Given the description of an element on the screen output the (x, y) to click on. 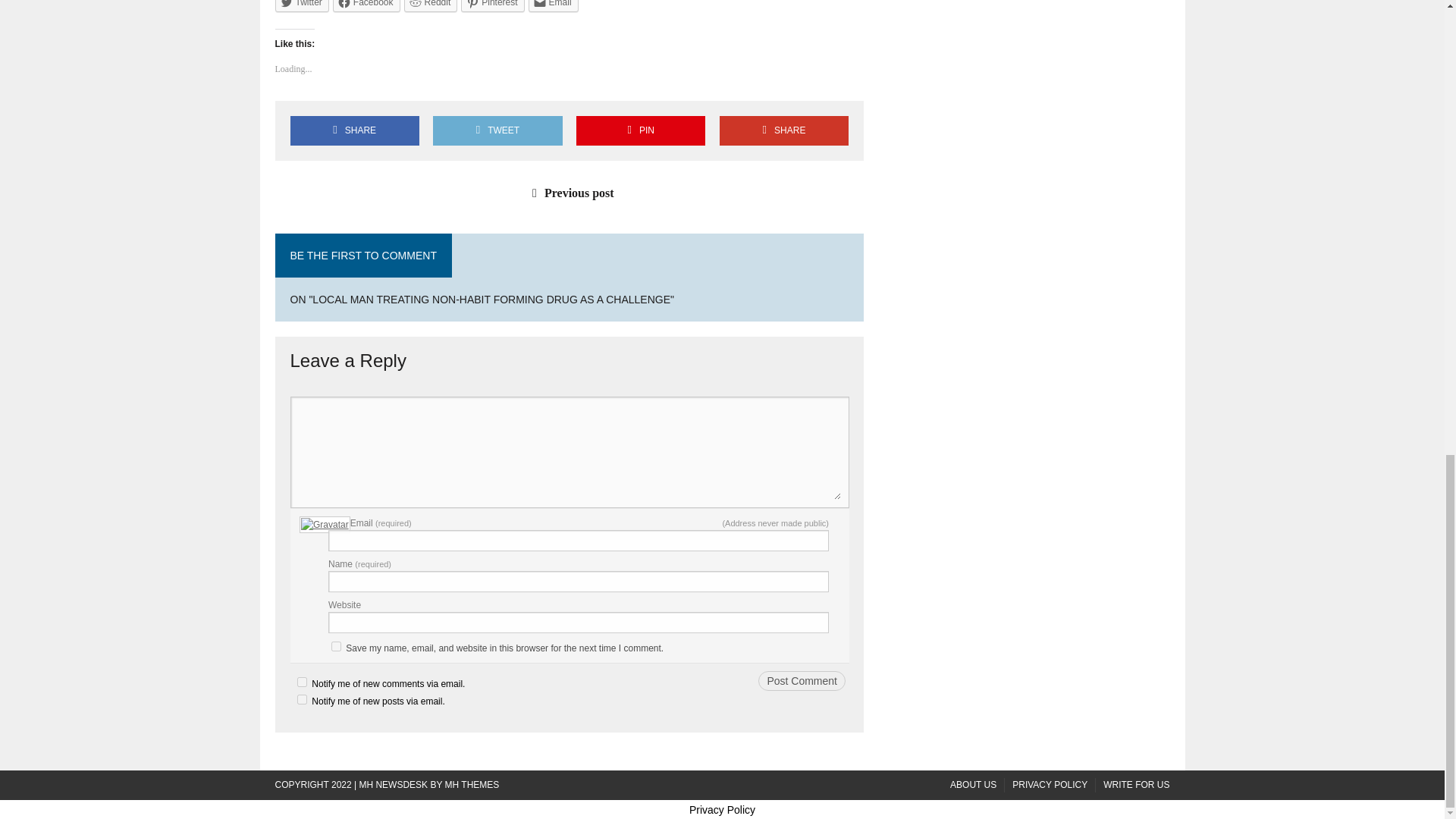
Share on Facebook (354, 130)
Pin This Post (640, 130)
Email (553, 6)
TWEET (497, 130)
Facebook (366, 6)
Click to share on Twitter (302, 6)
PIN (640, 130)
Twitter (302, 6)
Reddit (431, 6)
Click to share on Pinterest (492, 6)
Click to share on Reddit (431, 6)
Click to share on Facebook (366, 6)
SHARE (354, 130)
Pinterest (492, 6)
